Given the description of an element on the screen output the (x, y) to click on. 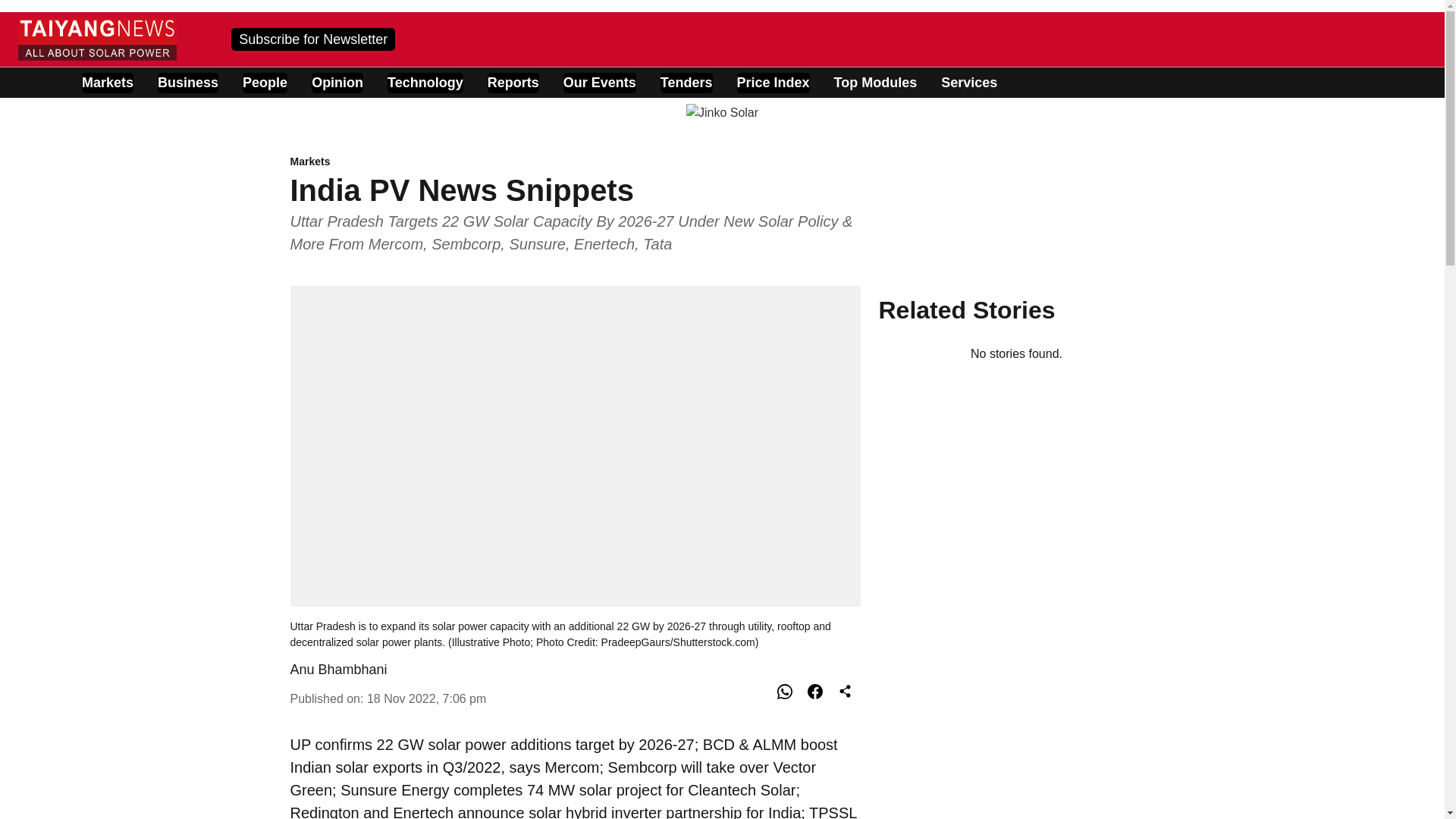
Our Events (599, 82)
Reports (512, 82)
2022-11-18 11:06 (426, 697)
Price Index (772, 82)
Markets (107, 82)
Subscribe for Newsletter (312, 38)
Anu Bhambhani (338, 669)
Opinion (336, 82)
Markets (574, 162)
